Given the description of an element on the screen output the (x, y) to click on. 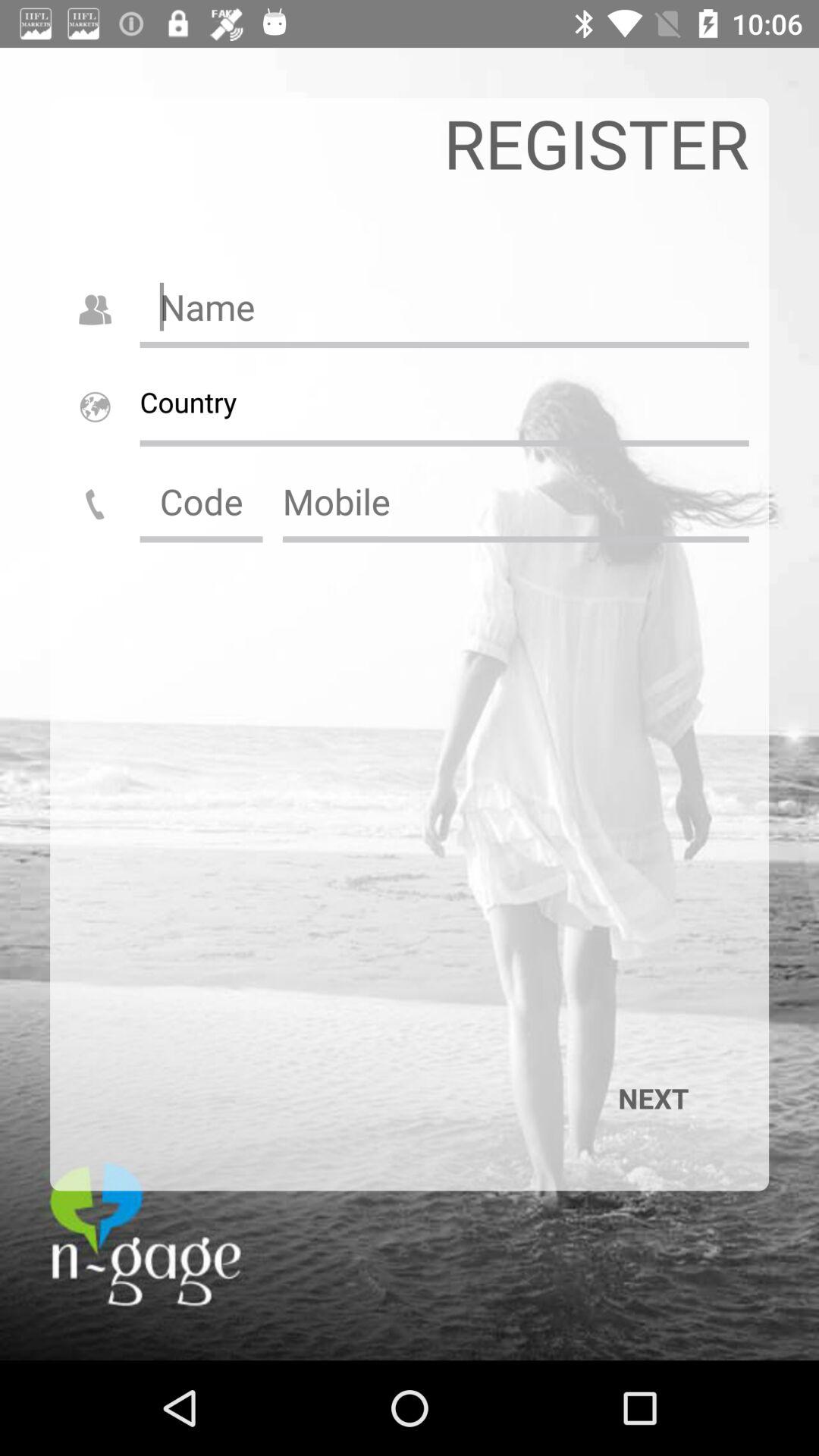
mobile number box (515, 501)
